Given the description of an element on the screen output the (x, y) to click on. 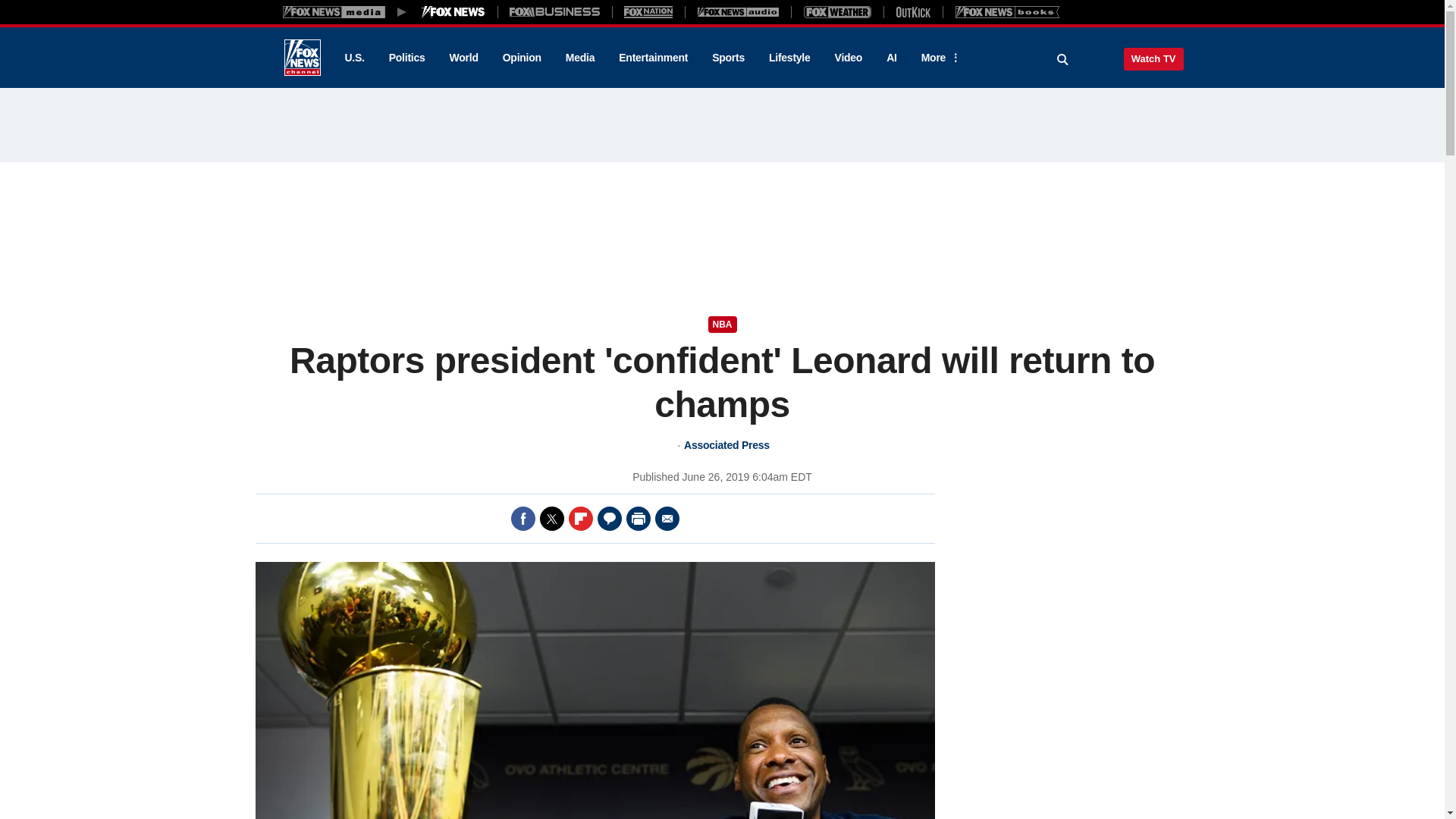
Fox Nation (648, 11)
Video (848, 57)
Fox Business (554, 11)
Opinion (521, 57)
Fox News Media (453, 11)
Media (580, 57)
Politics (407, 57)
Lifestyle (789, 57)
Fox News Audio (737, 11)
Watch TV (1153, 58)
